Given the description of an element on the screen output the (x, y) to click on. 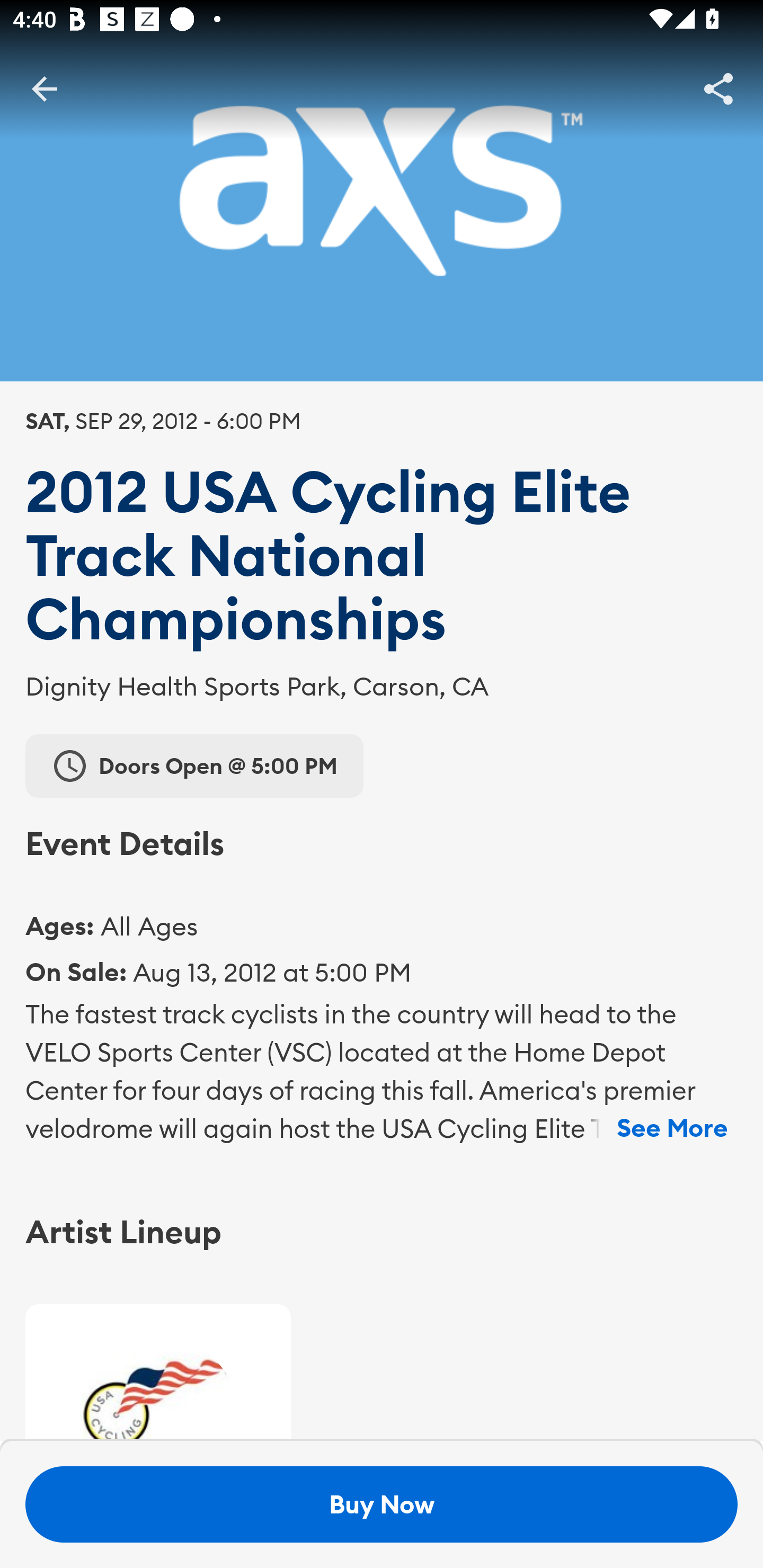
BackButton (44, 88)
Share (718, 88)
See More (671, 1127)
Buy Now (381, 1504)
